Given the description of an element on the screen output the (x, y) to click on. 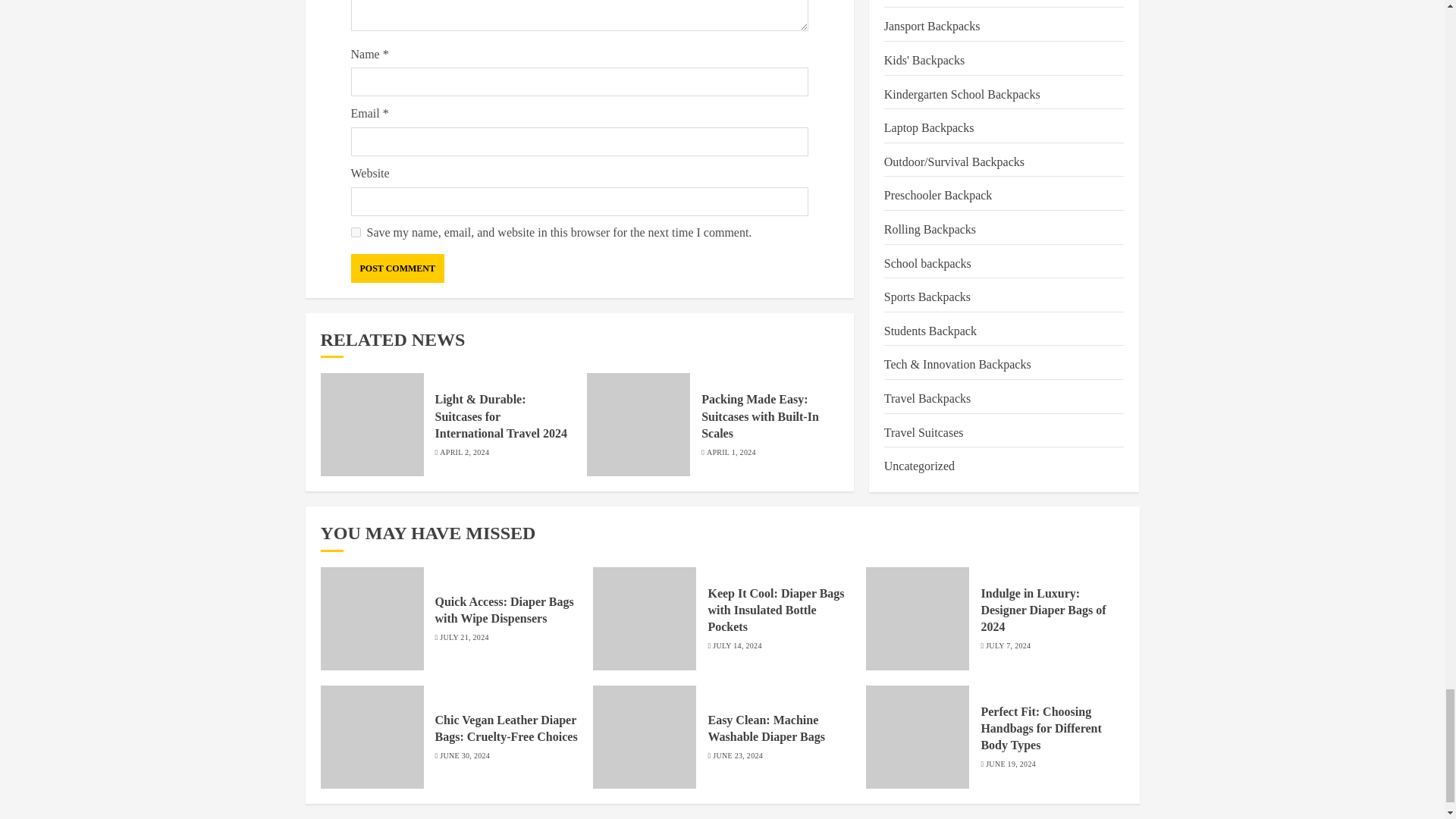
Post Comment (397, 267)
yes (354, 232)
